Given the description of an element on the screen output the (x, y) to click on. 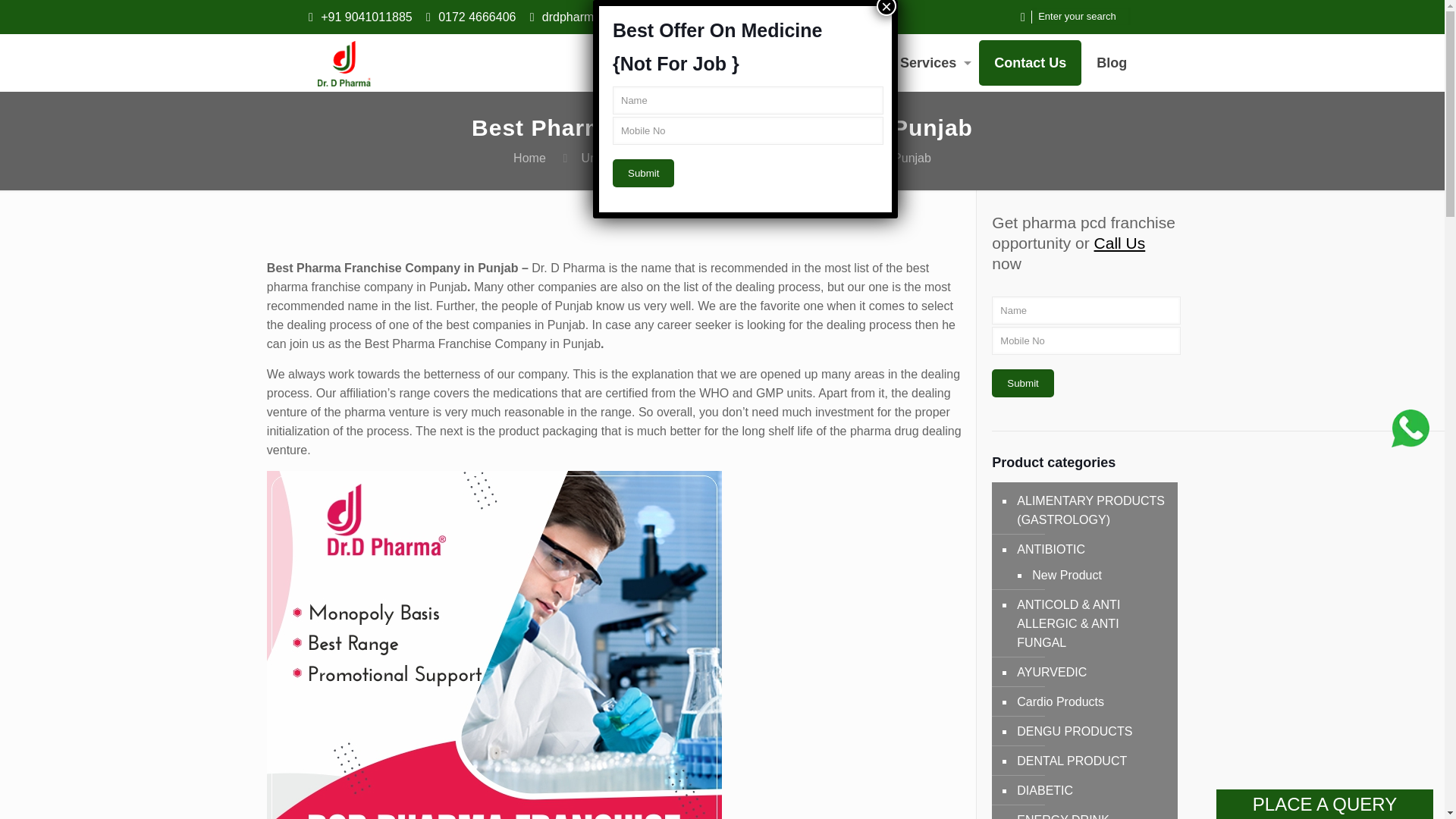
Call Us (1119, 242)
Uncategorized (619, 157)
Cardio Products (1091, 701)
Blog (1111, 62)
About us (758, 62)
Product (844, 62)
ANTIBIOTIC (1091, 549)
New Product (1095, 574)
DENGU PRODUCTS (1091, 731)
Best Pharma Company  (344, 62)
Services (931, 62)
Submit (1021, 383)
AYURVEDIC (1091, 672)
Home (529, 157)
